Given the description of an element on the screen output the (x, y) to click on. 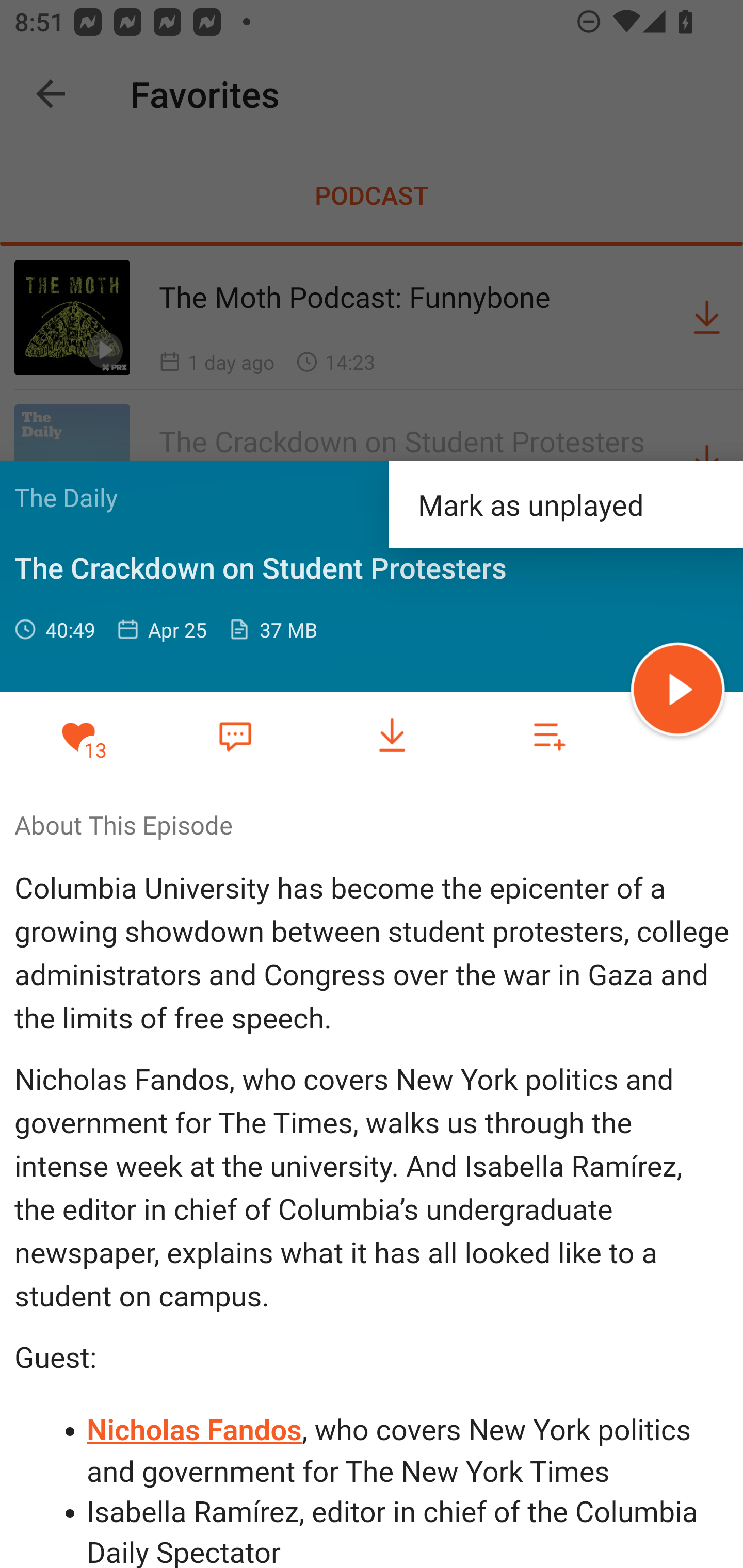
Mark as unplayed (566, 503)
